Given the description of an element on the screen output the (x, y) to click on. 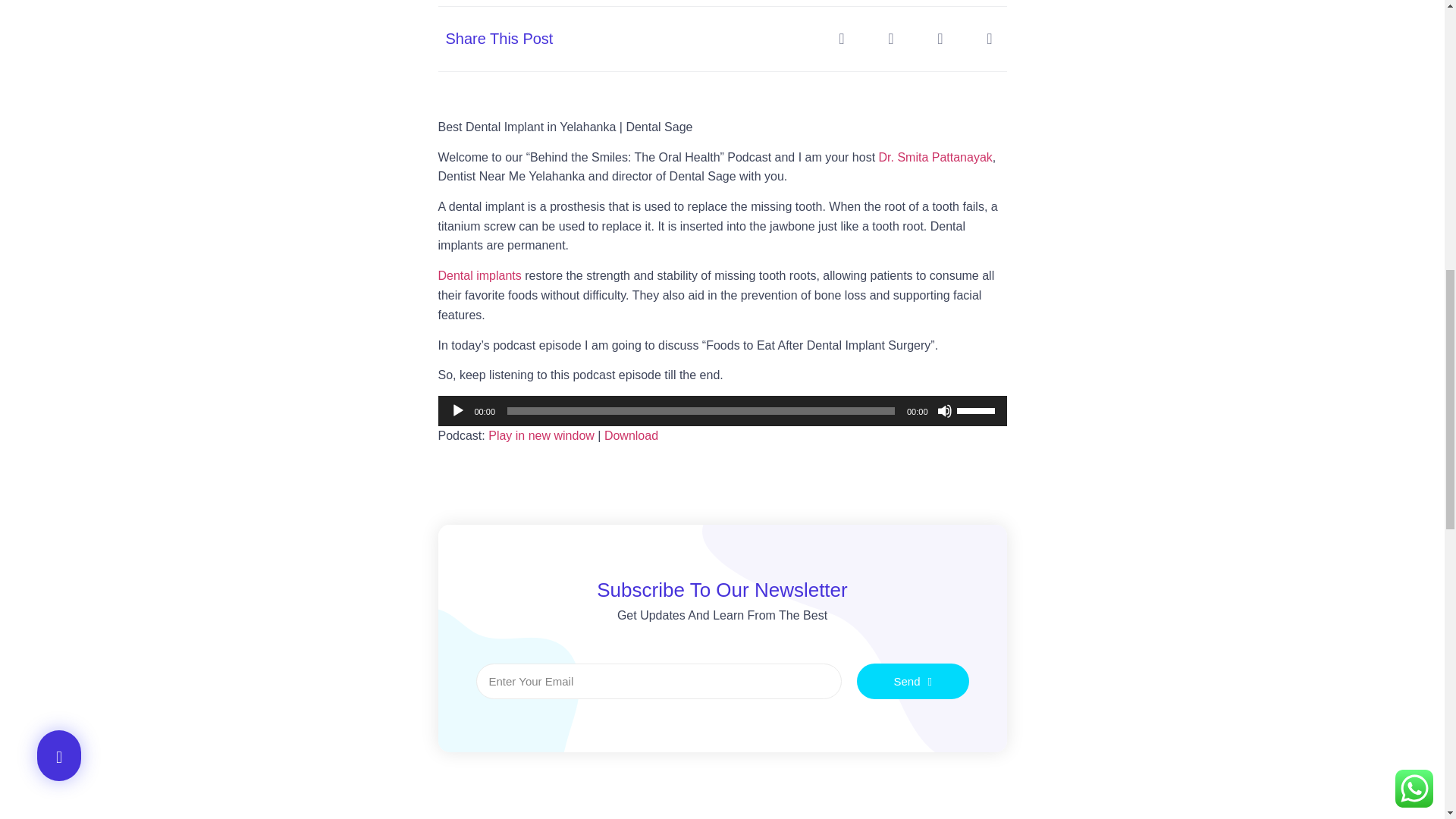
Download (631, 435)
Mute (944, 410)
Play (457, 410)
Play in new window (540, 435)
